Given the description of an element on the screen output the (x, y) to click on. 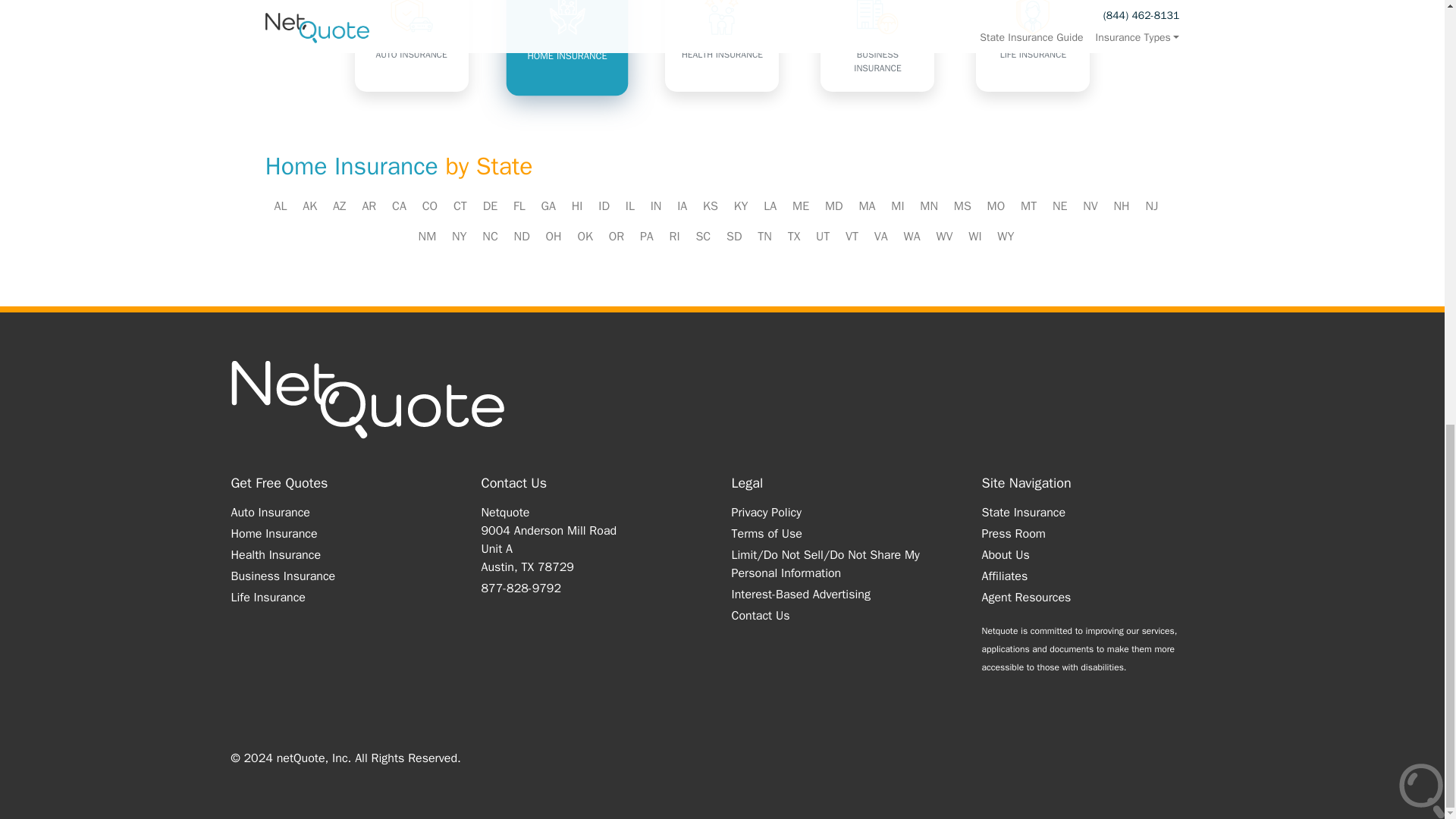
BUSINESS INSURANCE (877, 45)
HEALTH INSURANCE (721, 45)
HOME INSURANCE (562, 43)
LIFE INSURANCE (1032, 45)
AUTO INSURANCE (411, 45)
